Given the description of an element on the screen output the (x, y) to click on. 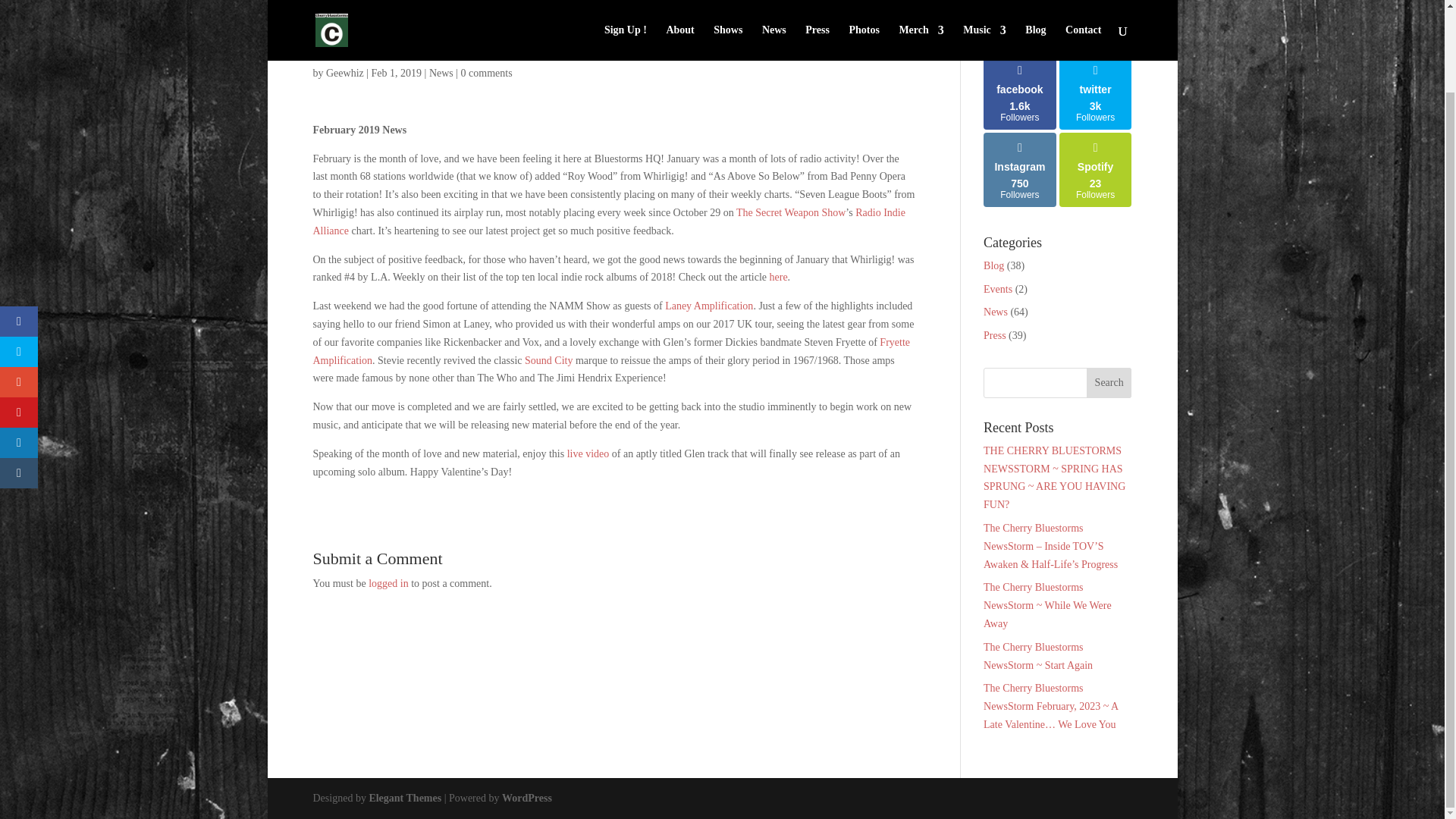
The Secret Weapon Show (790, 212)
News (440, 72)
here (778, 276)
Sound City (548, 360)
Radio Indie Alliance (608, 221)
Laney Amplification (708, 306)
0 comments (486, 72)
Search (1109, 382)
Posts by Geewhiz (345, 72)
Geewhiz (345, 72)
